Given the description of an element on the screen output the (x, y) to click on. 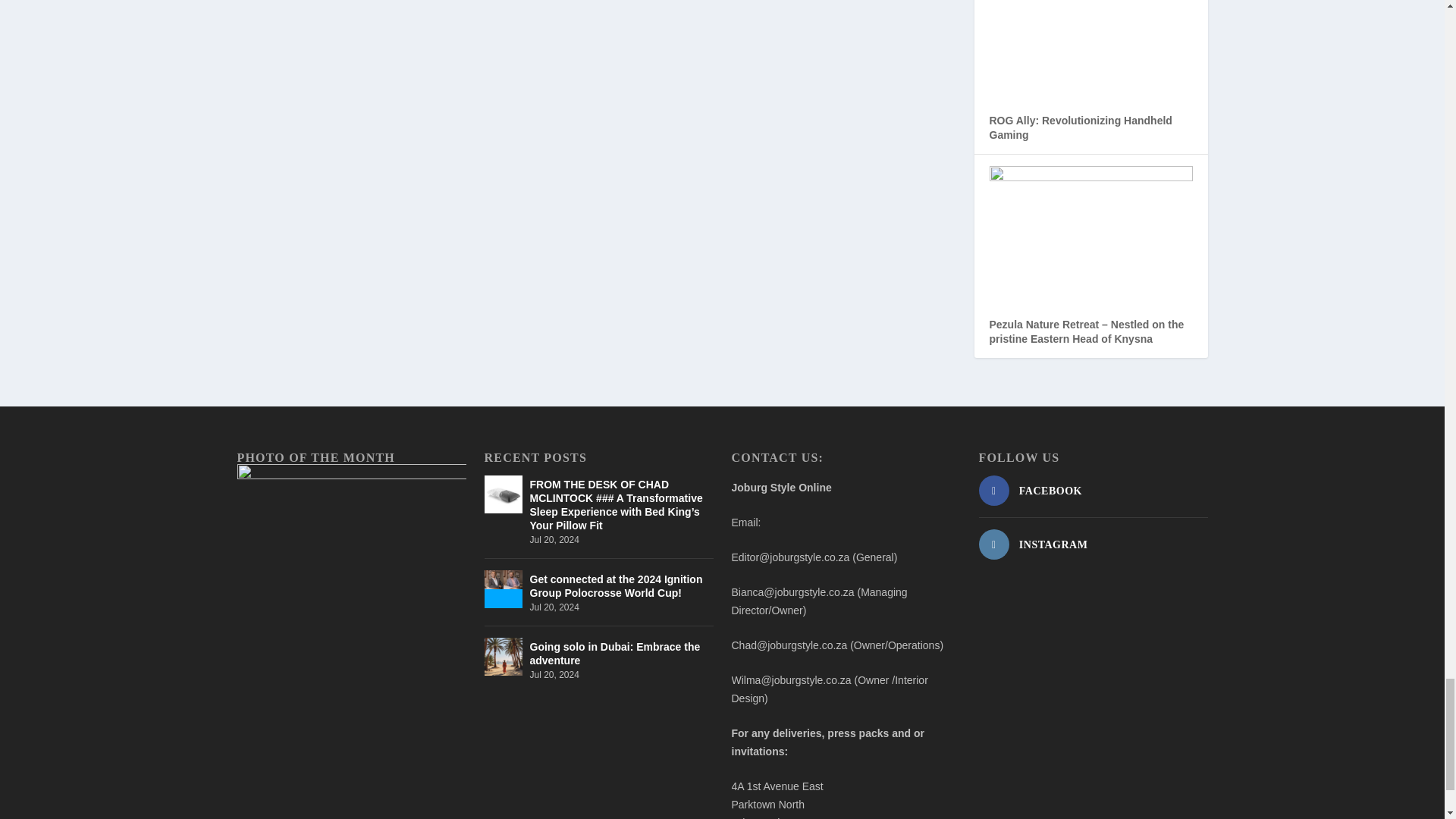
Photo of the Week (350, 539)
